Given the description of an element on the screen output the (x, y) to click on. 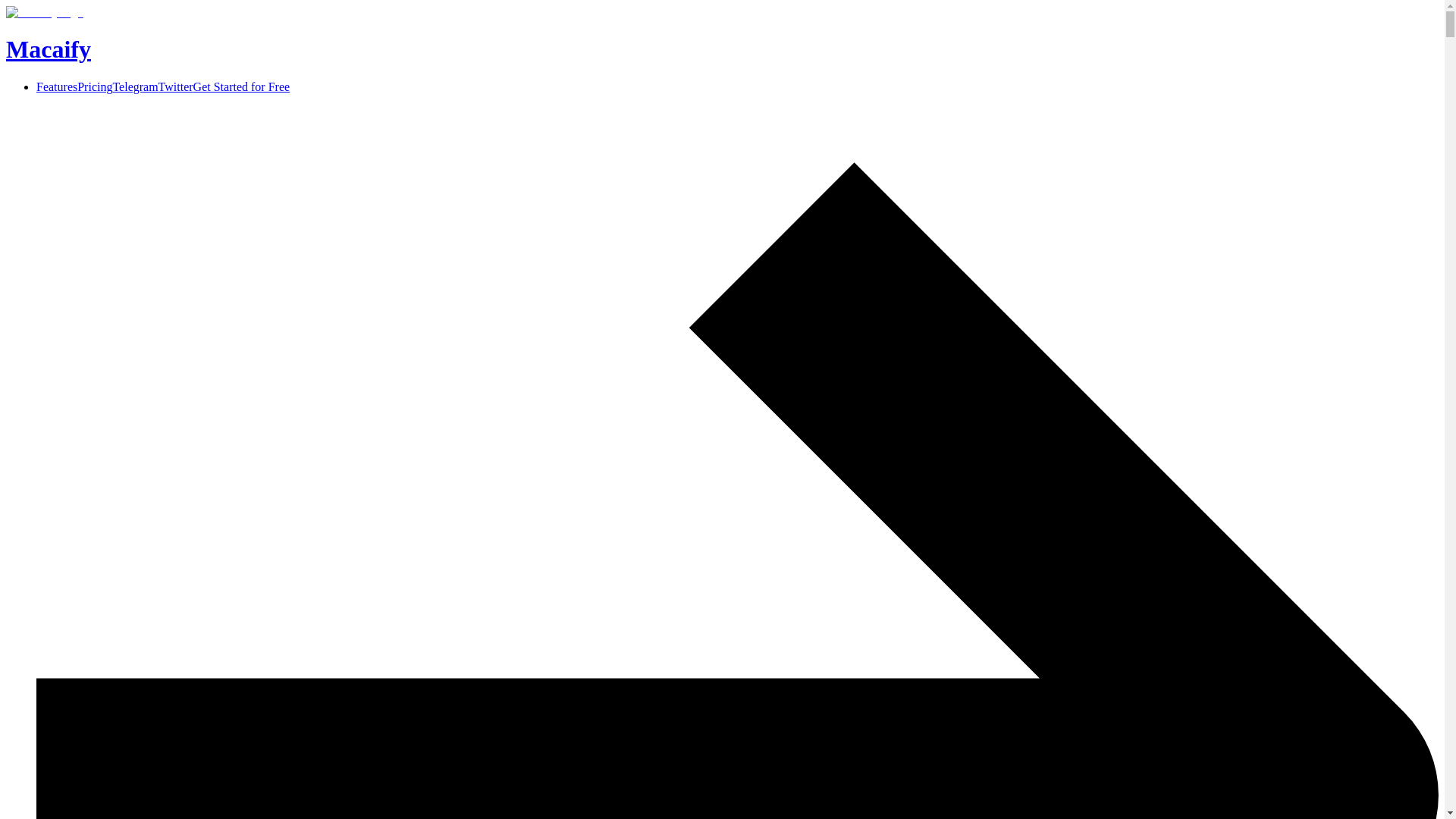
Twitter (175, 86)
Pricing (94, 86)
Features (56, 86)
Telegram (134, 86)
